Given the description of an element on the screen output the (x, y) to click on. 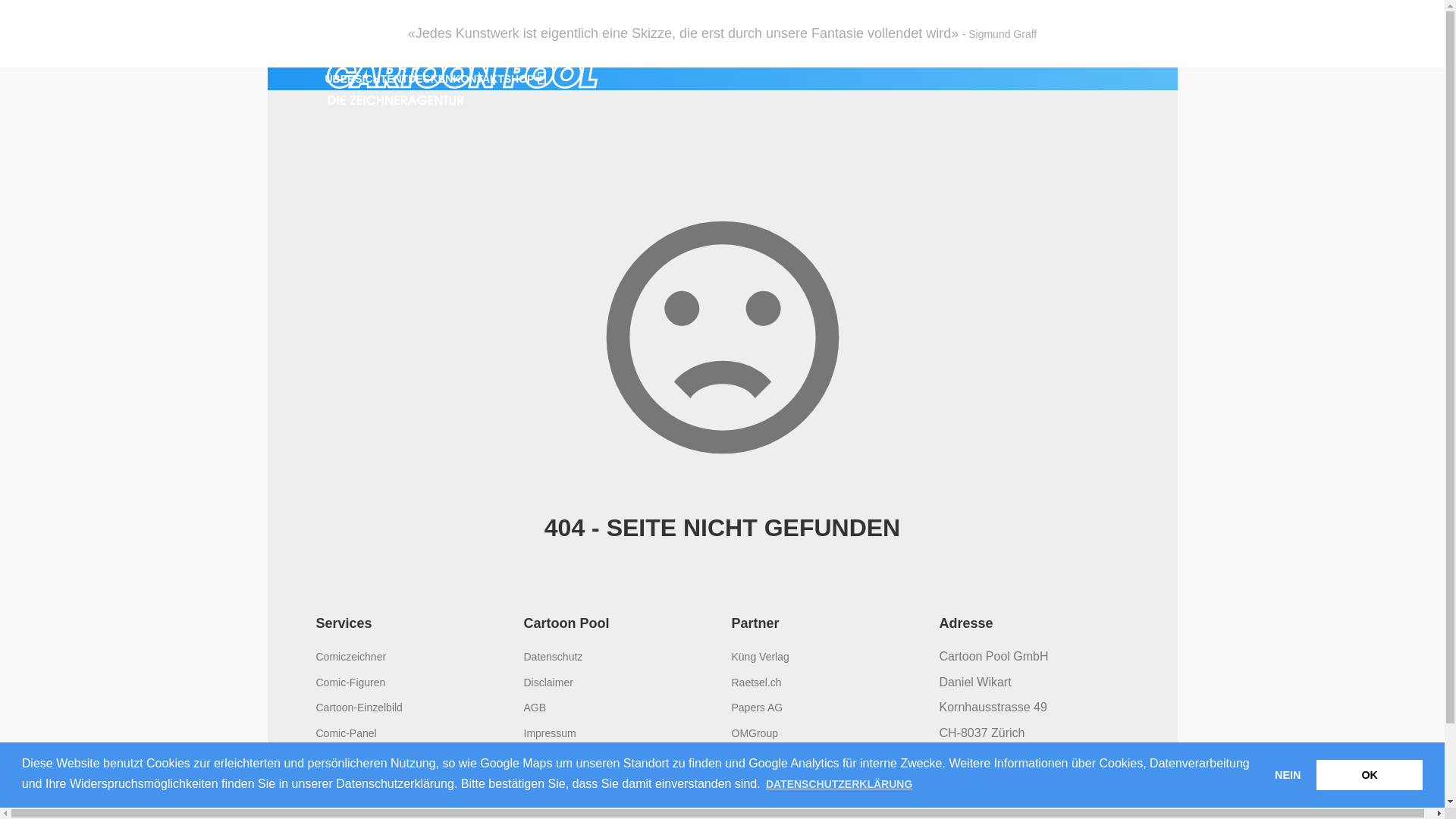
Comic-Panel Element type: text (345, 733)
Comic-Figuren Element type: text (350, 682)
OMGroup Element type: text (754, 733)
NEIN Element type: text (1287, 774)
Raetsel.ch Element type: text (756, 682)
AGB Element type: text (534, 707)
Comiczeichner Element type: text (350, 656)
KONTAKT Element type: text (477, 78)
SHOP Element type: text (519, 78)
OK Element type: text (1369, 774)
| Element type: text (503, 78)
Papers AG Element type: text (756, 707)
Cartoon-Einzelbild Element type: text (358, 707)
Datenschutz Element type: text (552, 656)
ENTDECKEN Element type: text (419, 78)
Impressum Element type: text (549, 733)
Disclaimer Element type: text (547, 682)
